Given the description of an element on the screen output the (x, y) to click on. 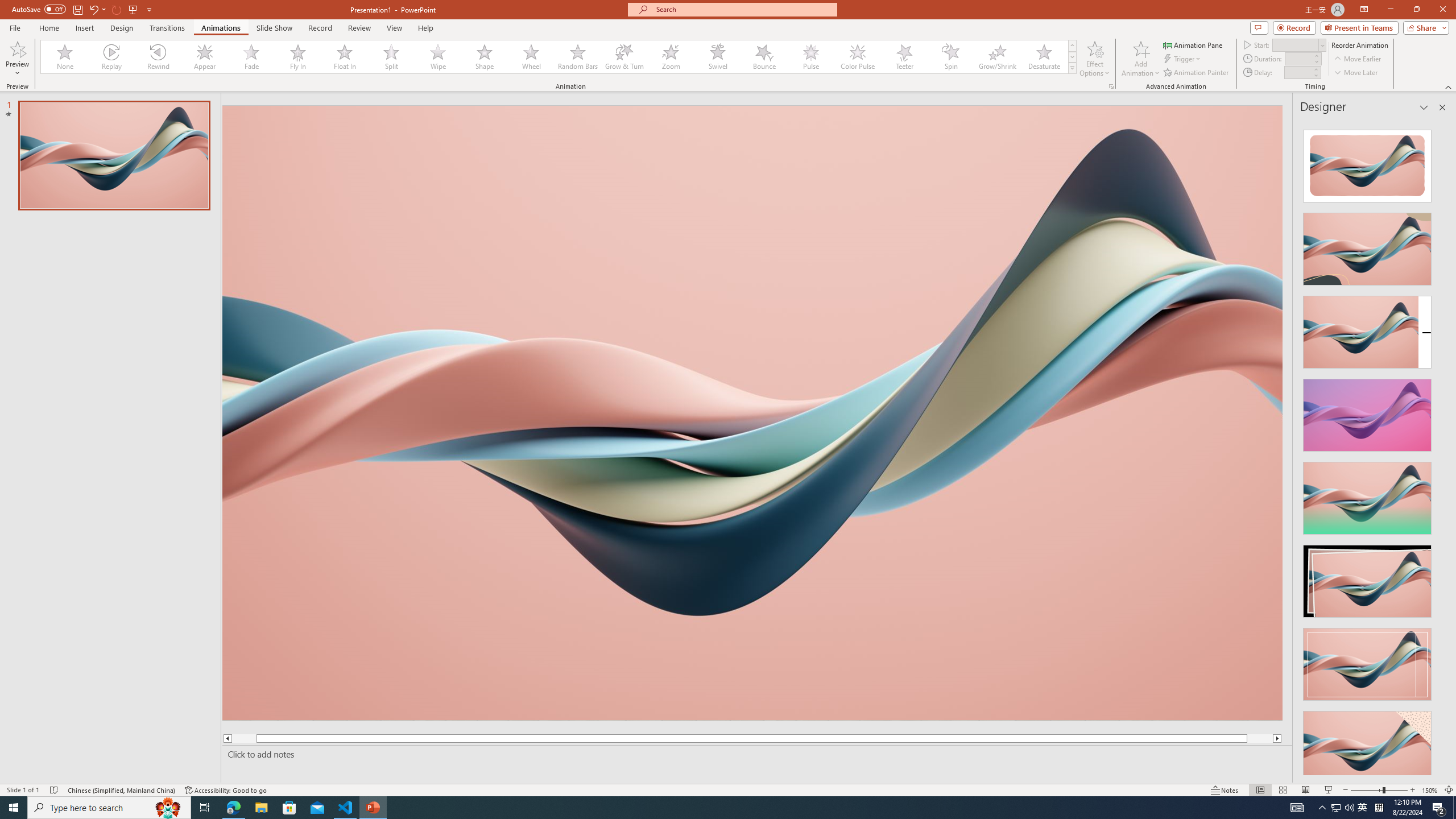
More Options... (1110, 85)
Bounce (764, 56)
Animation Painter (1196, 72)
Grow & Turn (624, 56)
Fly In (298, 56)
Swivel (717, 56)
